Given the description of an element on the screen output the (x, y) to click on. 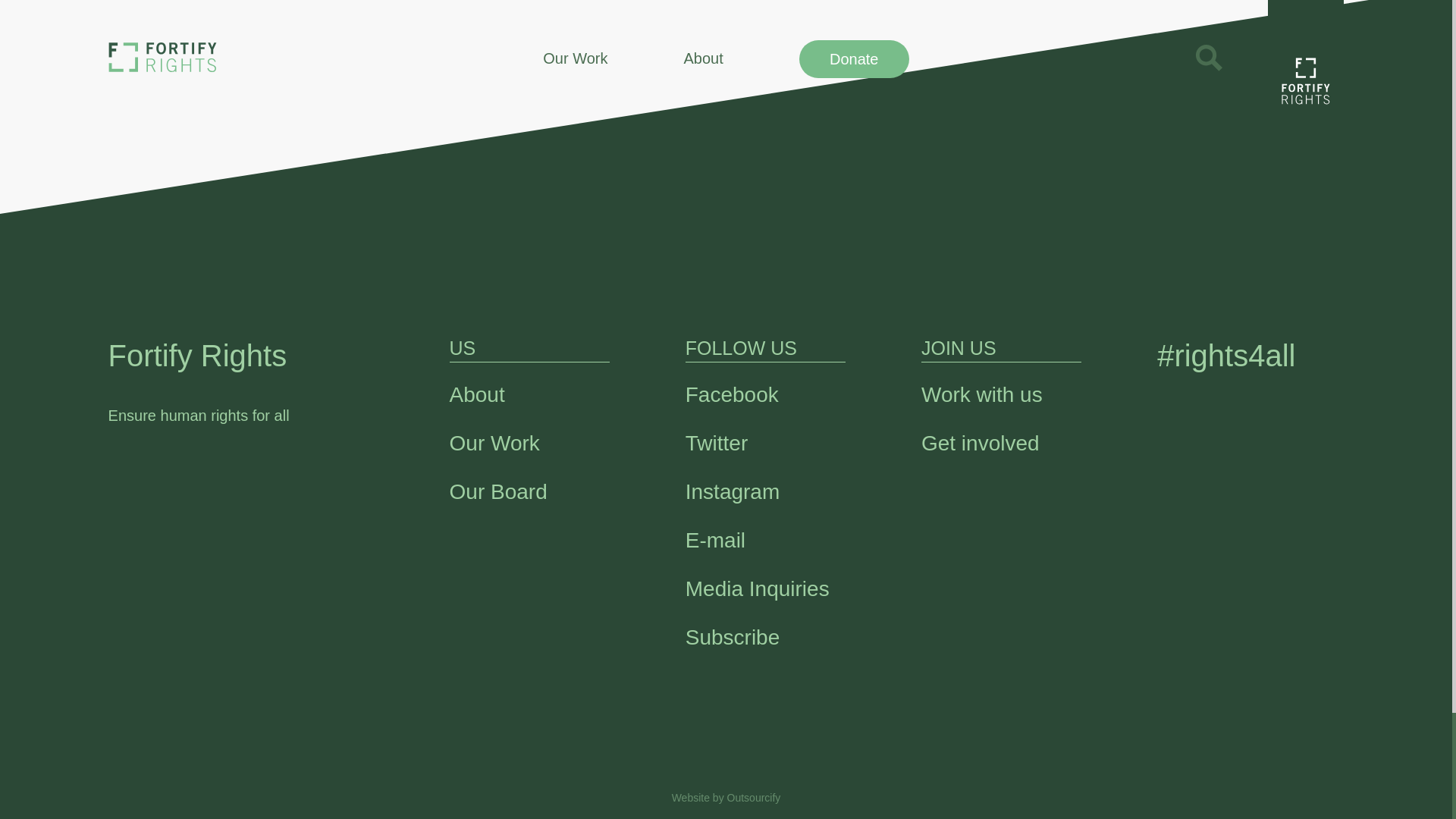
About (477, 394)
